Given the description of an element on the screen output the (x, y) to click on. 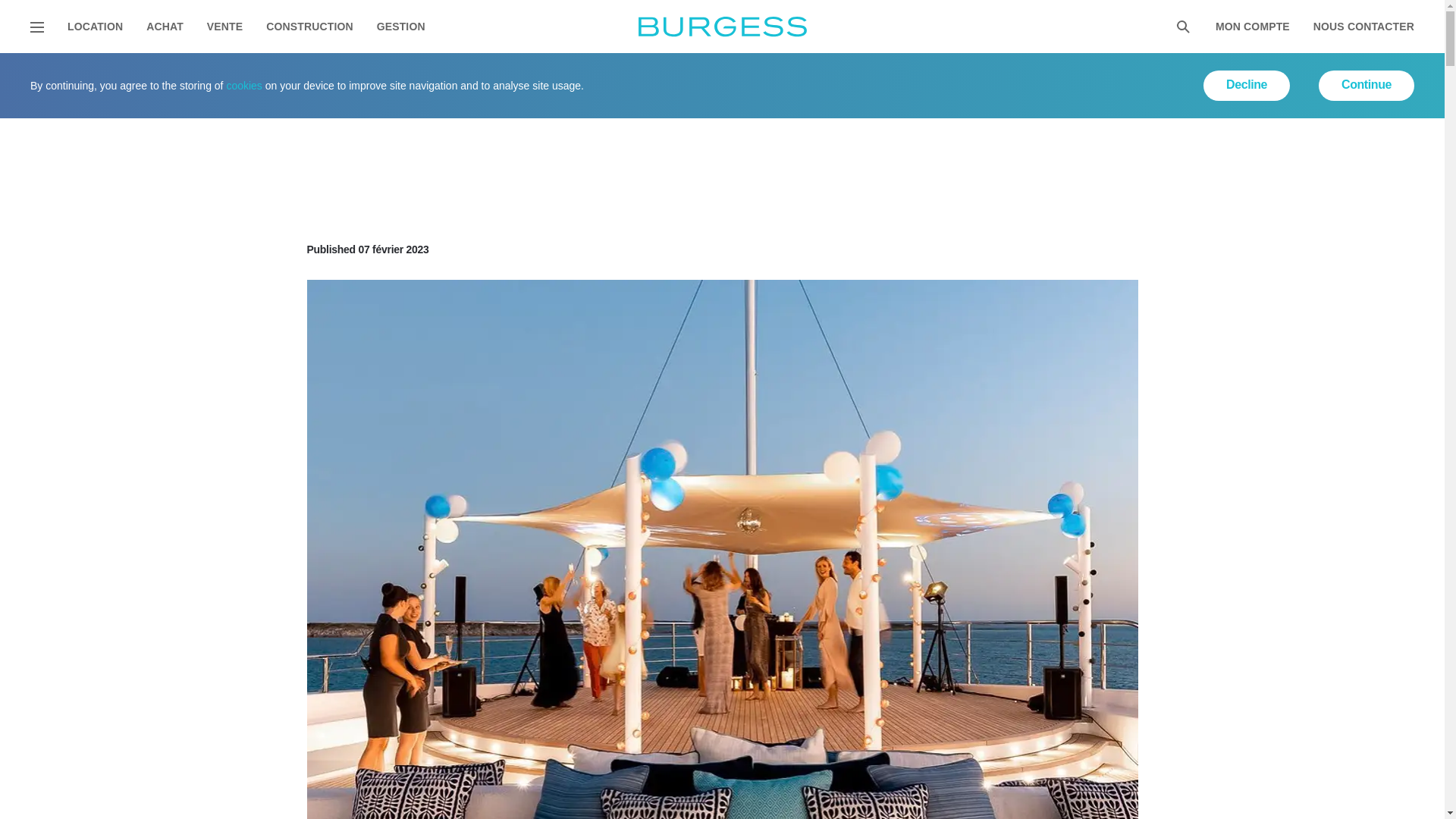
NOUS CONTACTER (1363, 26)
VENTE (224, 26)
MON COMPTE (1252, 26)
Ouvrir le panneau de recherche (1182, 26)
cookies (243, 85)
Continue (1366, 85)
Decline (1247, 85)
Accueil (58, 72)
News (183, 72)
ACHAT (165, 26)
CONSTRUCTION (309, 26)
GESTION (401, 26)
LOCATION (94, 26)
